Given the description of an element on the screen output the (x, y) to click on. 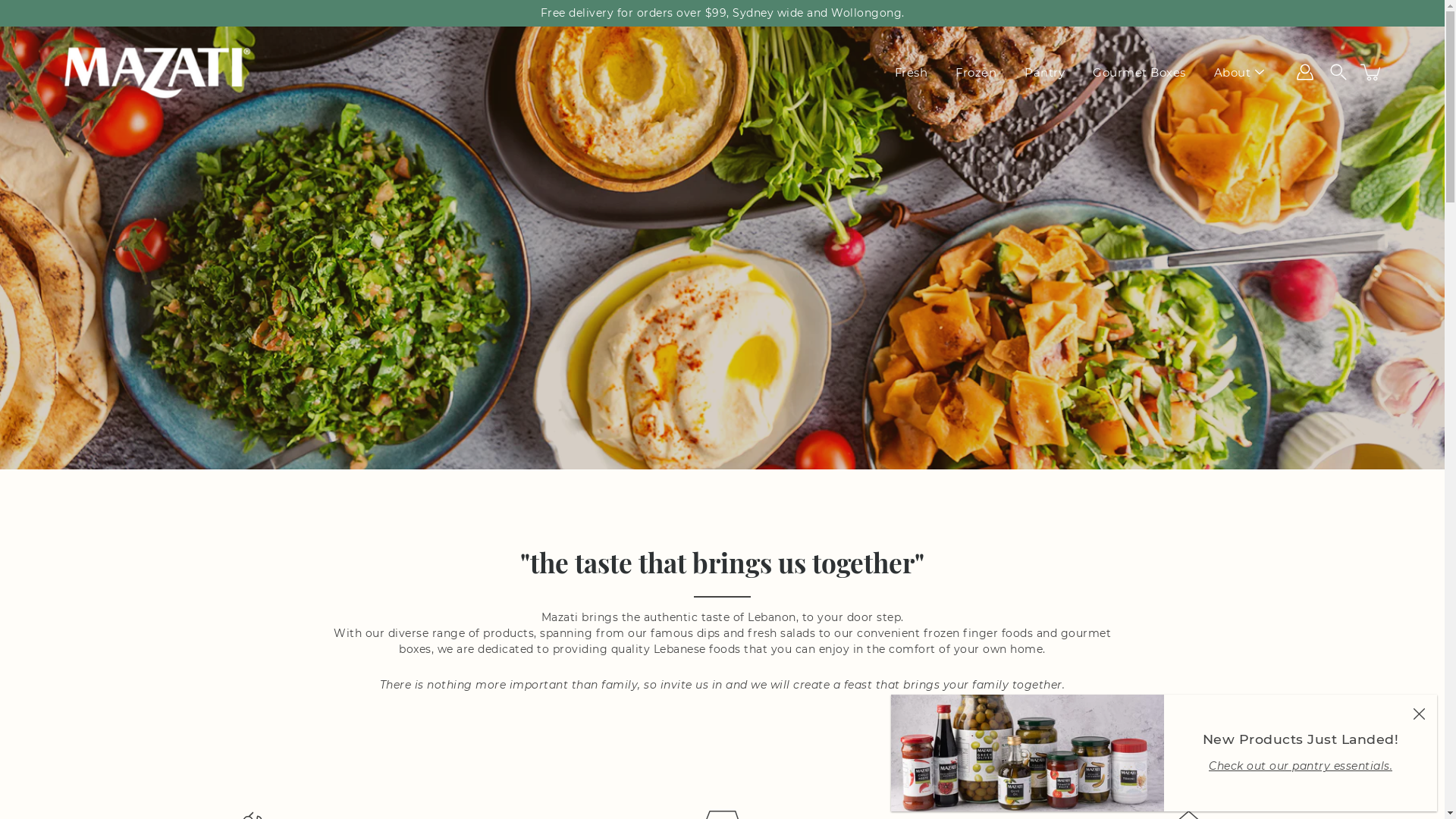
Pantry Element type: text (1044, 71)
Gourmet Boxes Element type: text (1139, 71)
About Element type: text (1231, 71)
Check out our pantry essentials. Element type: text (1300, 765)
Frozen Element type: text (975, 71)
Fresh Element type: text (911, 71)
